Given the description of an element on the screen output the (x, y) to click on. 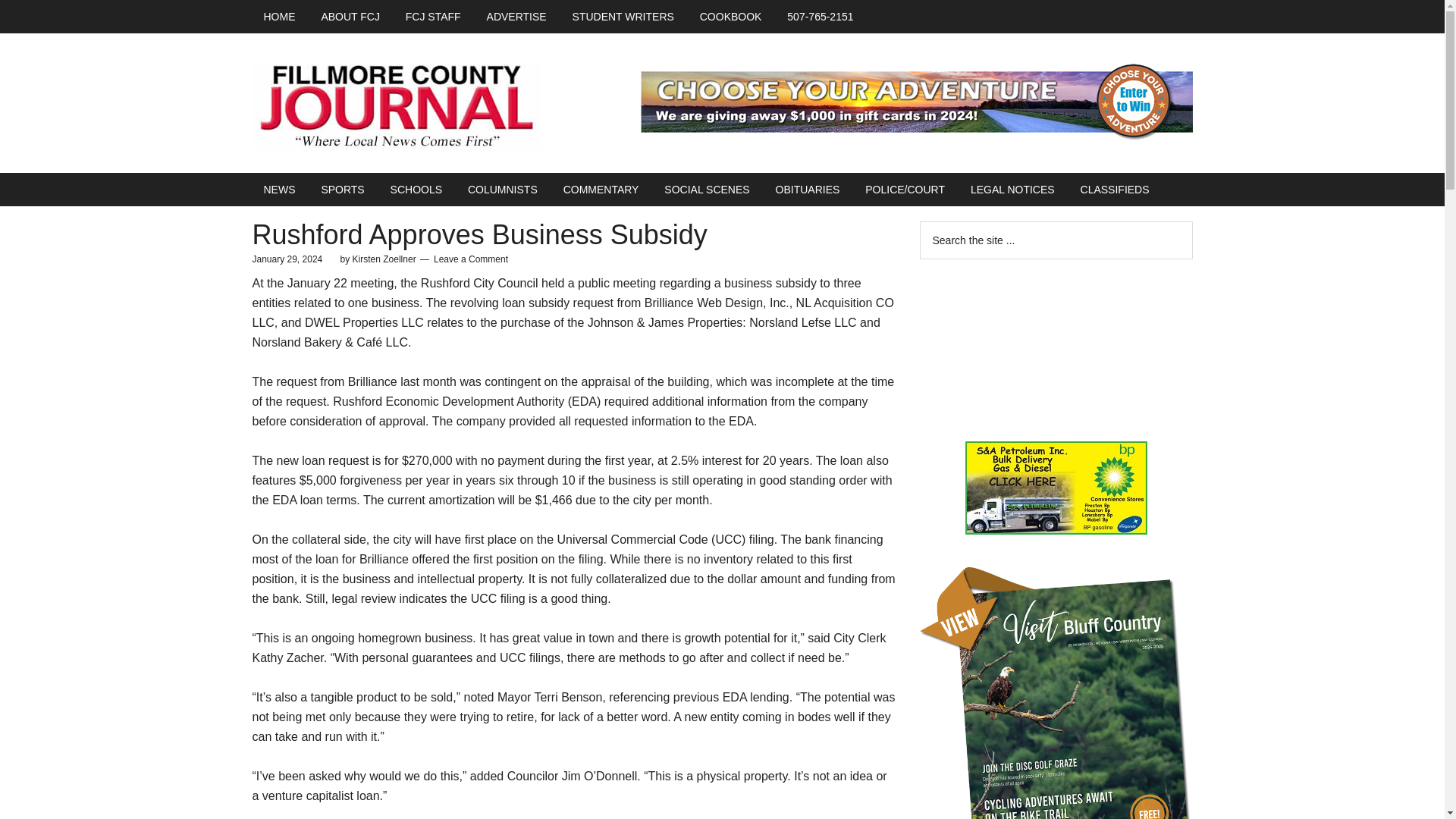
OBITUARIES (807, 189)
SPORTS (341, 189)
FCJ STAFF (432, 16)
ADVERTISE (516, 16)
COMMENTARY (600, 189)
ABOUT FCJ (349, 16)
COLUMNISTS (502, 189)
COOKBOOK (730, 16)
507-765-2151 (820, 16)
